Given the description of an element on the screen output the (x, y) to click on. 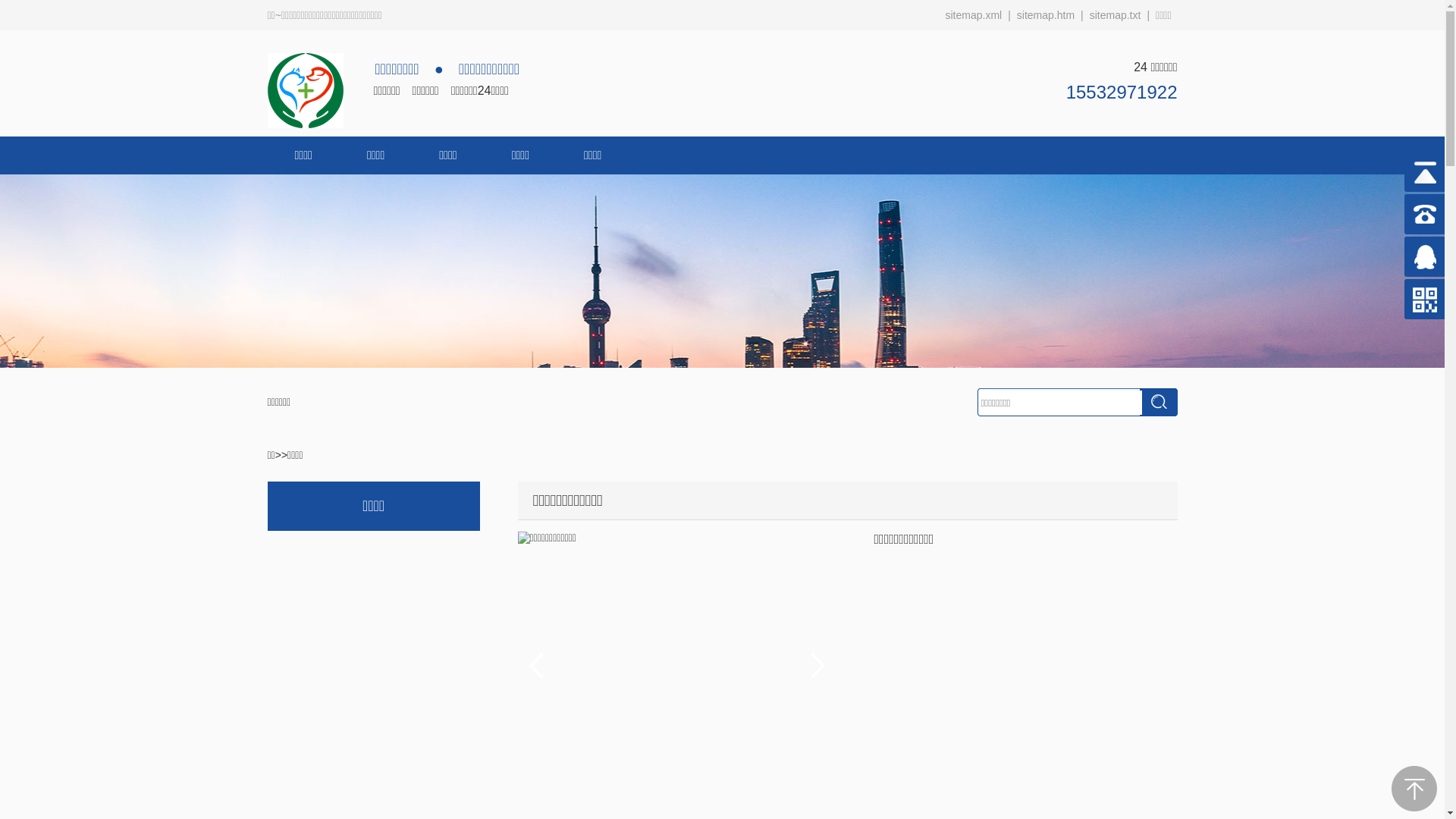
sitemap.txt Element type: text (1115, 15)
sitemap.xml Element type: text (972, 15)
sitemap.htm Element type: text (1045, 15)
